Given the description of an element on the screen output the (x, y) to click on. 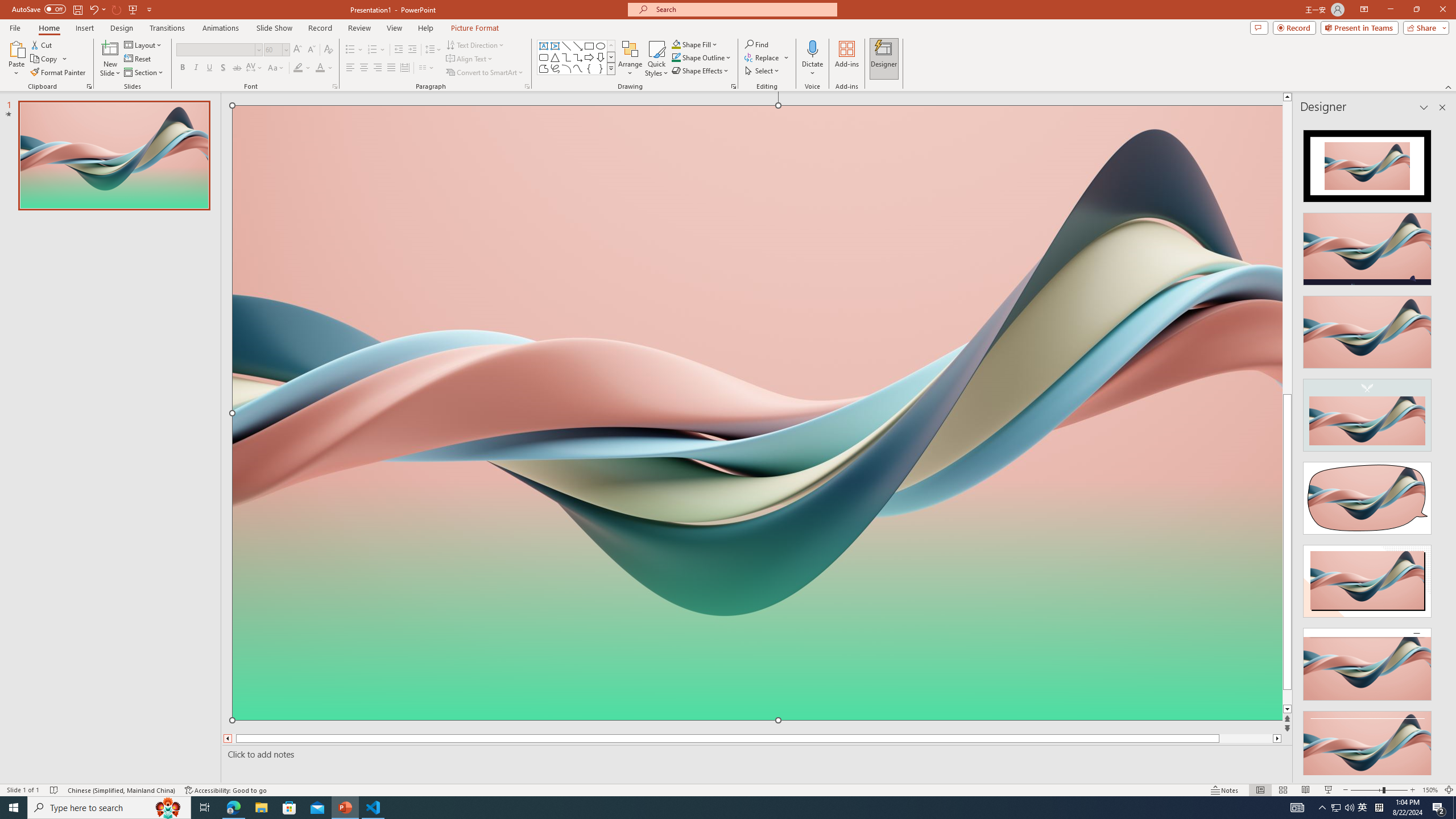
Class: NetUIScrollBar (1441, 447)
Zoom 150% (1430, 790)
